Given the description of an element on the screen output the (x, y) to click on. 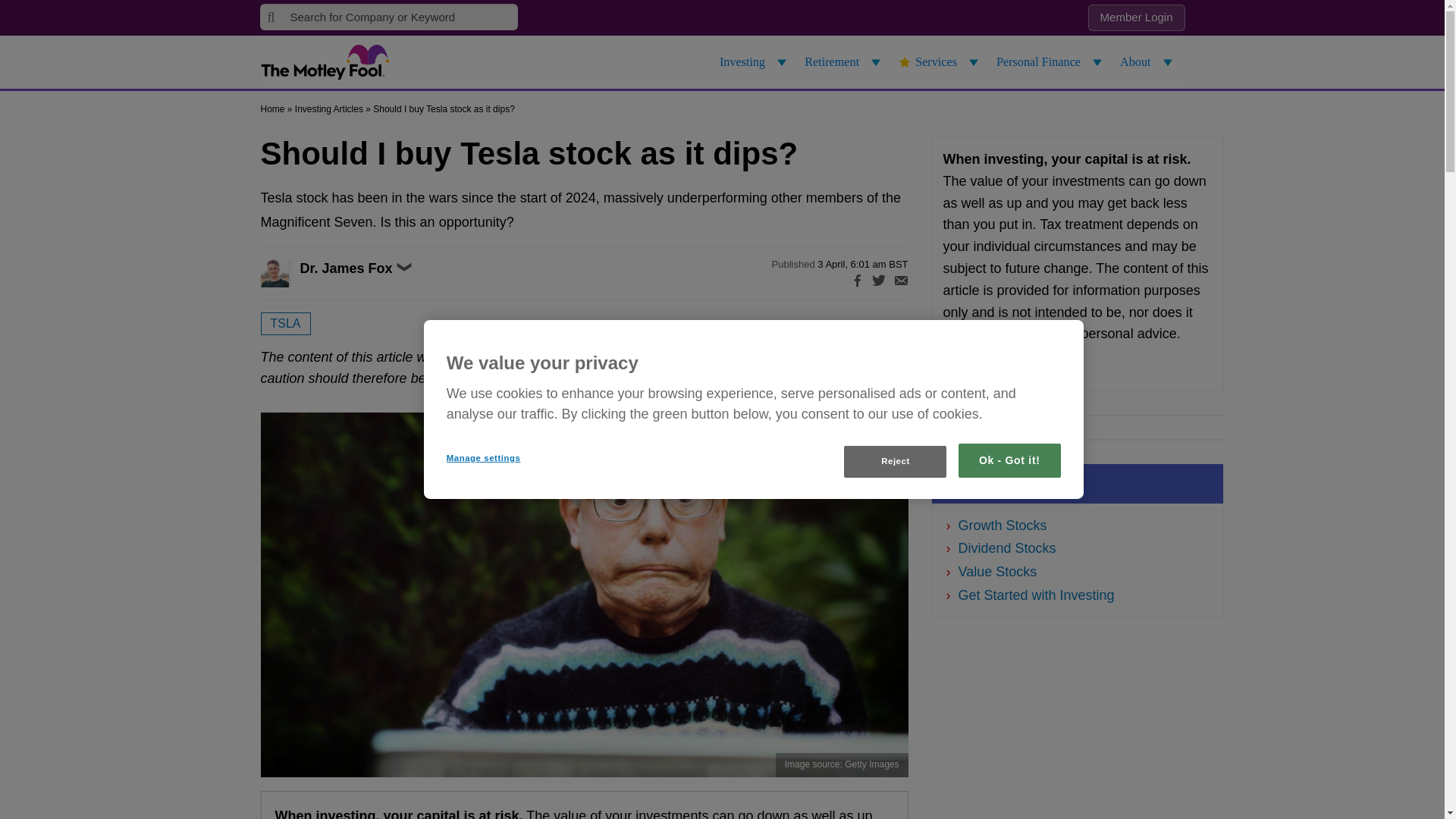
Services (941, 62)
Investing (755, 62)
See more articles about TSLA (285, 323)
Member Login (1136, 17)
Dr. James Fox (290, 273)
Retirement (844, 62)
